Given the description of an element on the screen output the (x, y) to click on. 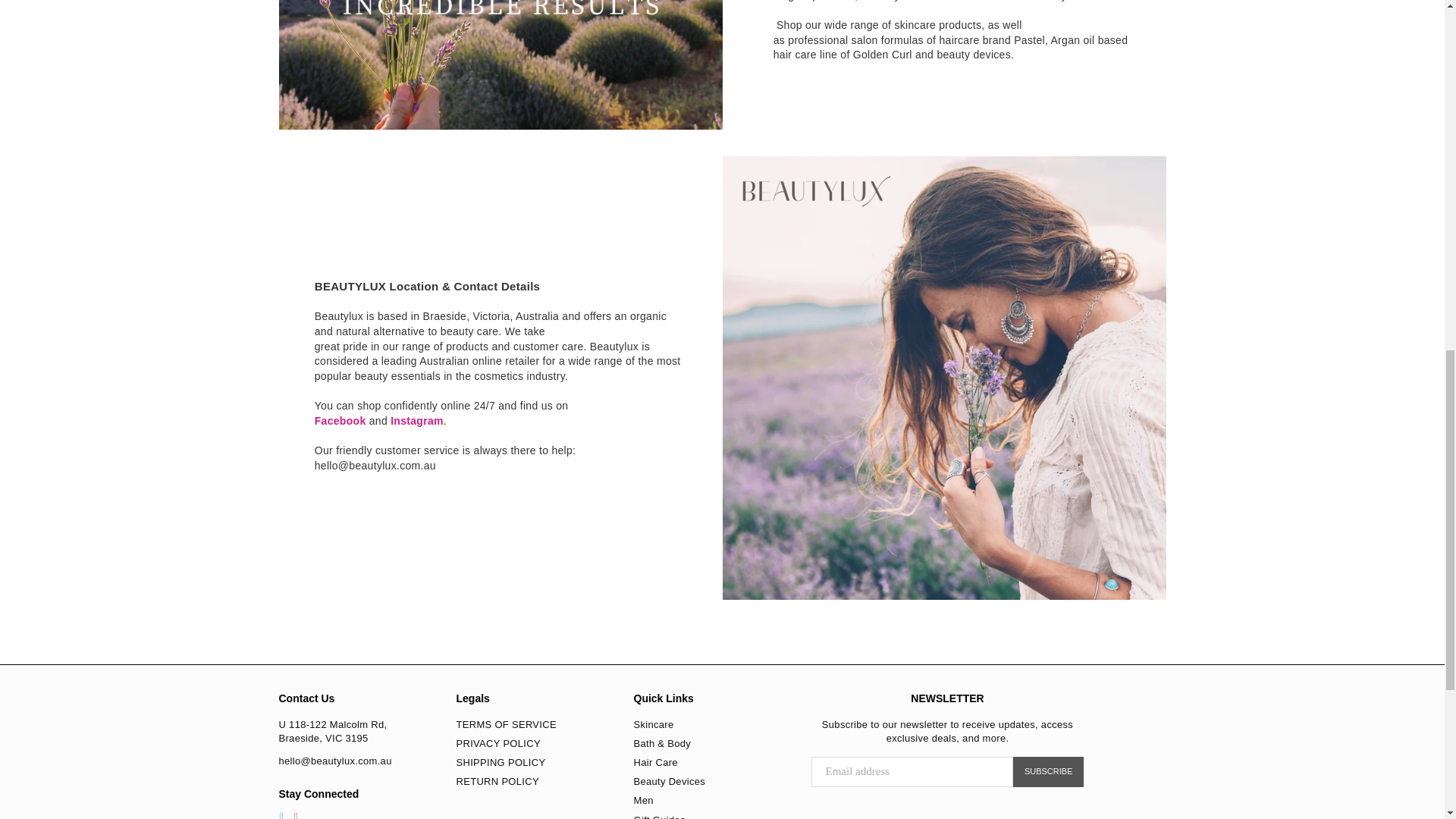
BEAUTYLUX on Facebook (281, 814)
BEAUTYLUX on Instagram (295, 814)
